Given the description of an element on the screen output the (x, y) to click on. 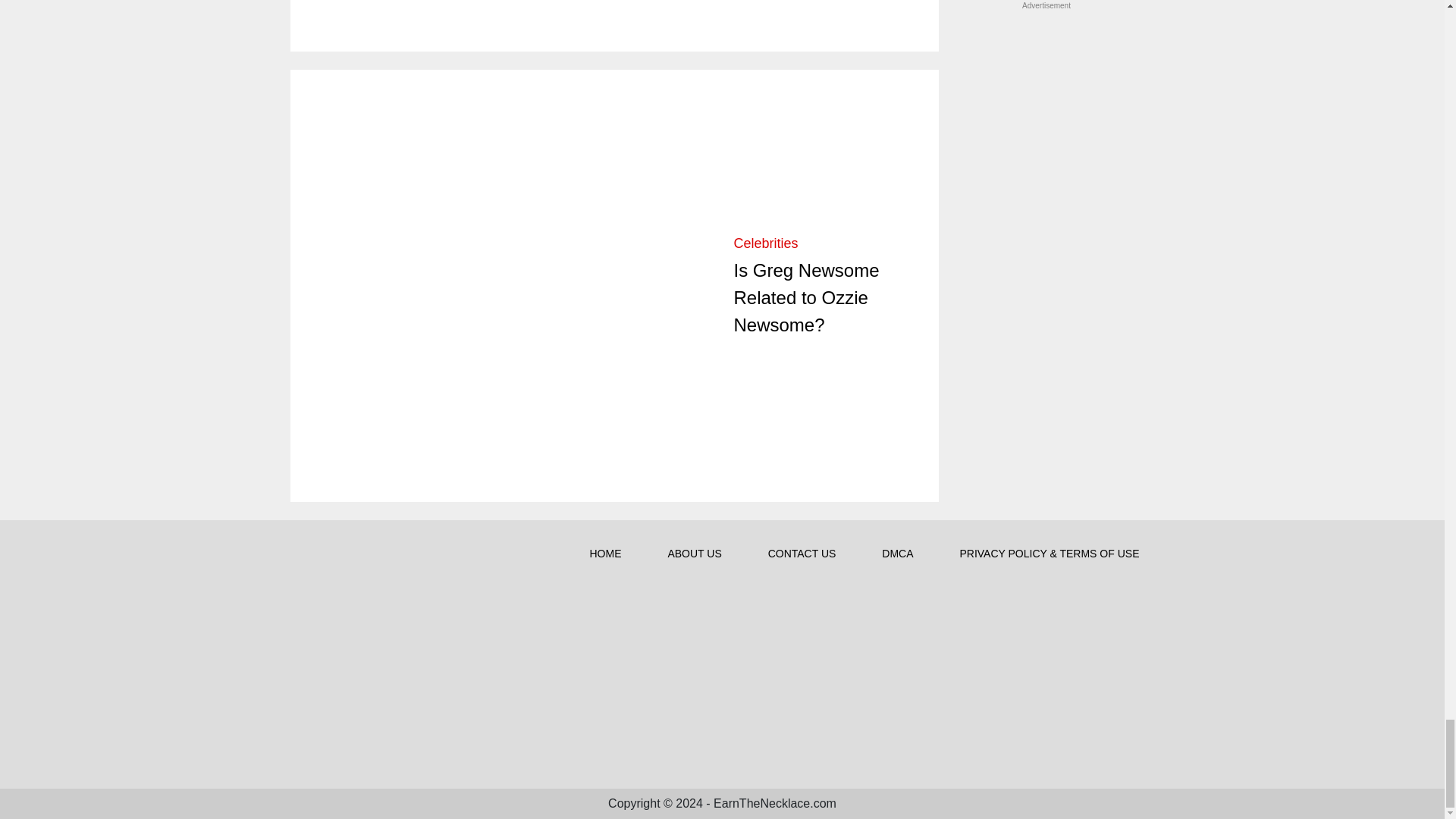
Category Name (765, 242)
